Given the description of an element on the screen output the (x, y) to click on. 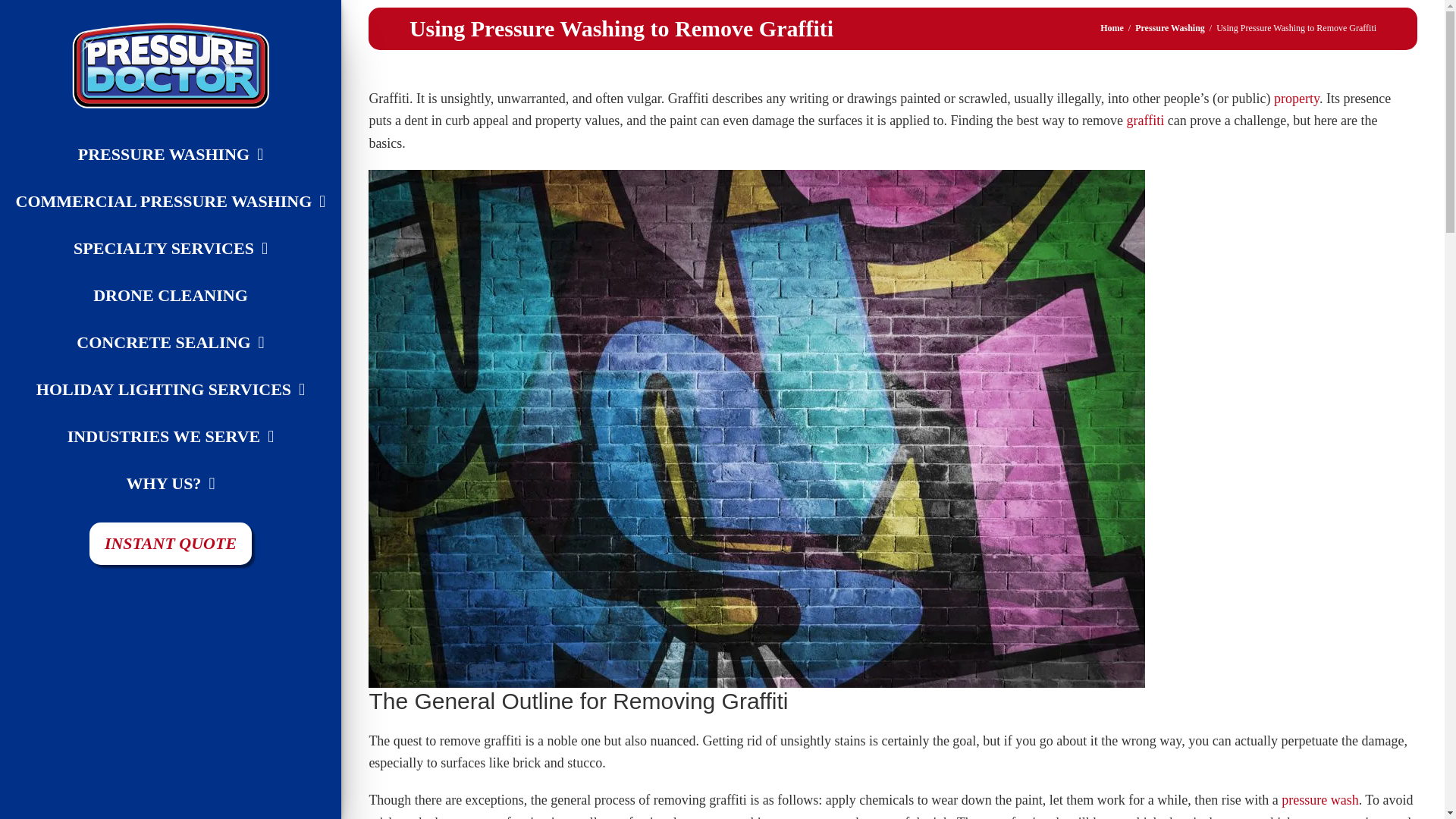
POOL SURROUNDS (204, 387)
GUM REMOVAL (204, 241)
BUILDING WASHING (204, 132)
DUMPSTER PAD CLEANUP (204, 168)
PRESSURE WASHING (170, 154)
HOLIDAY LIGHTING SERVICES (170, 389)
LIMESTONE RESTORATION (204, 278)
DRIVEWAY CLEANING (204, 191)
CONCRETE CLEANING (204, 118)
COURT CLEANING (204, 155)
RUST REMOVAL (204, 451)
COMMERCIAL PRESSURE WASHING (204, 89)
RUST REMOVAL (204, 460)
PRESSURE WASHING (204, 82)
